Given the description of an element on the screen output the (x, y) to click on. 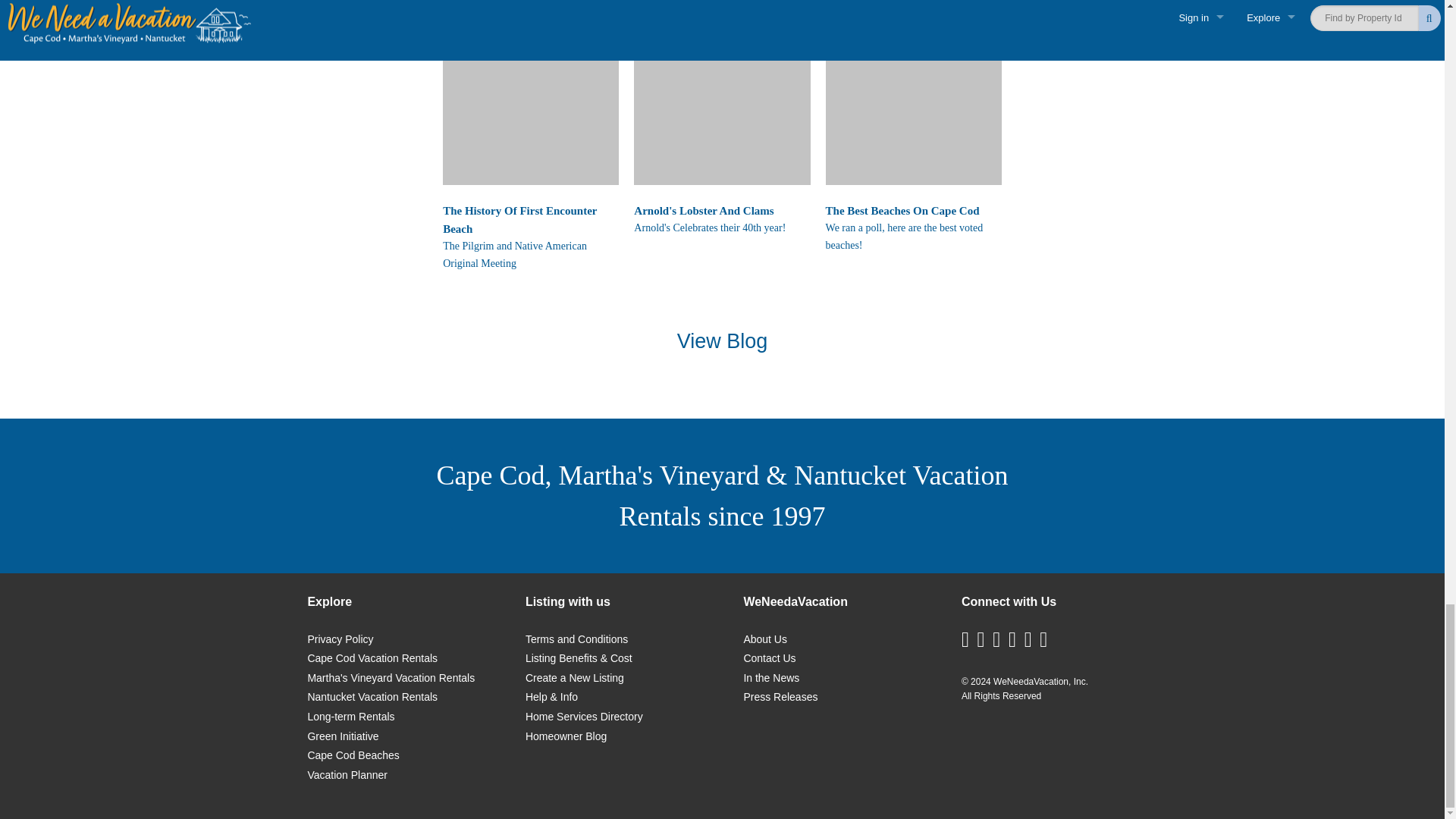
Martha's Vineyard Vacation Rentals (390, 677)
Arnold's Lobster and Clams (721, 97)
Cape Cod Vacation Rentals (372, 657)
Terms and Conditions (576, 639)
The History of First Encounter Beach (530, 97)
Cape Cod Beaches (352, 755)
The Best Beaches on Cape Cod (913, 97)
View Blog (722, 341)
Vacation Planner (347, 775)
Green Initiative (342, 736)
Long-term Rentals (350, 716)
Privacy Policy (339, 639)
